Given the description of an element on the screen output the (x, y) to click on. 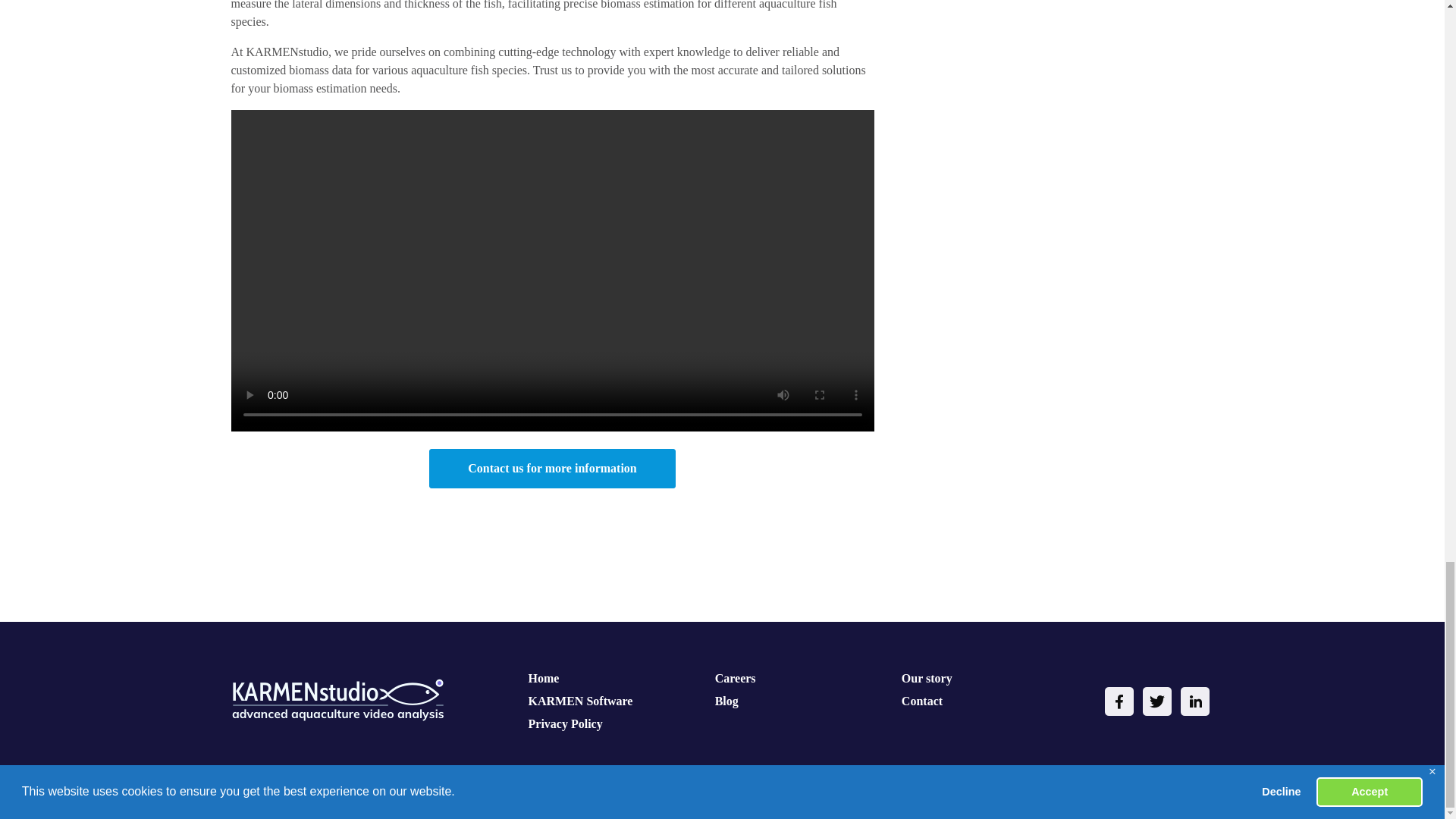
KARMEN Software (580, 700)
Careers (734, 677)
Contact (921, 700)
Home (543, 677)
Our story (926, 677)
Contact us for more information (552, 468)
Blog (726, 700)
